Given the description of an element on the screen output the (x, y) to click on. 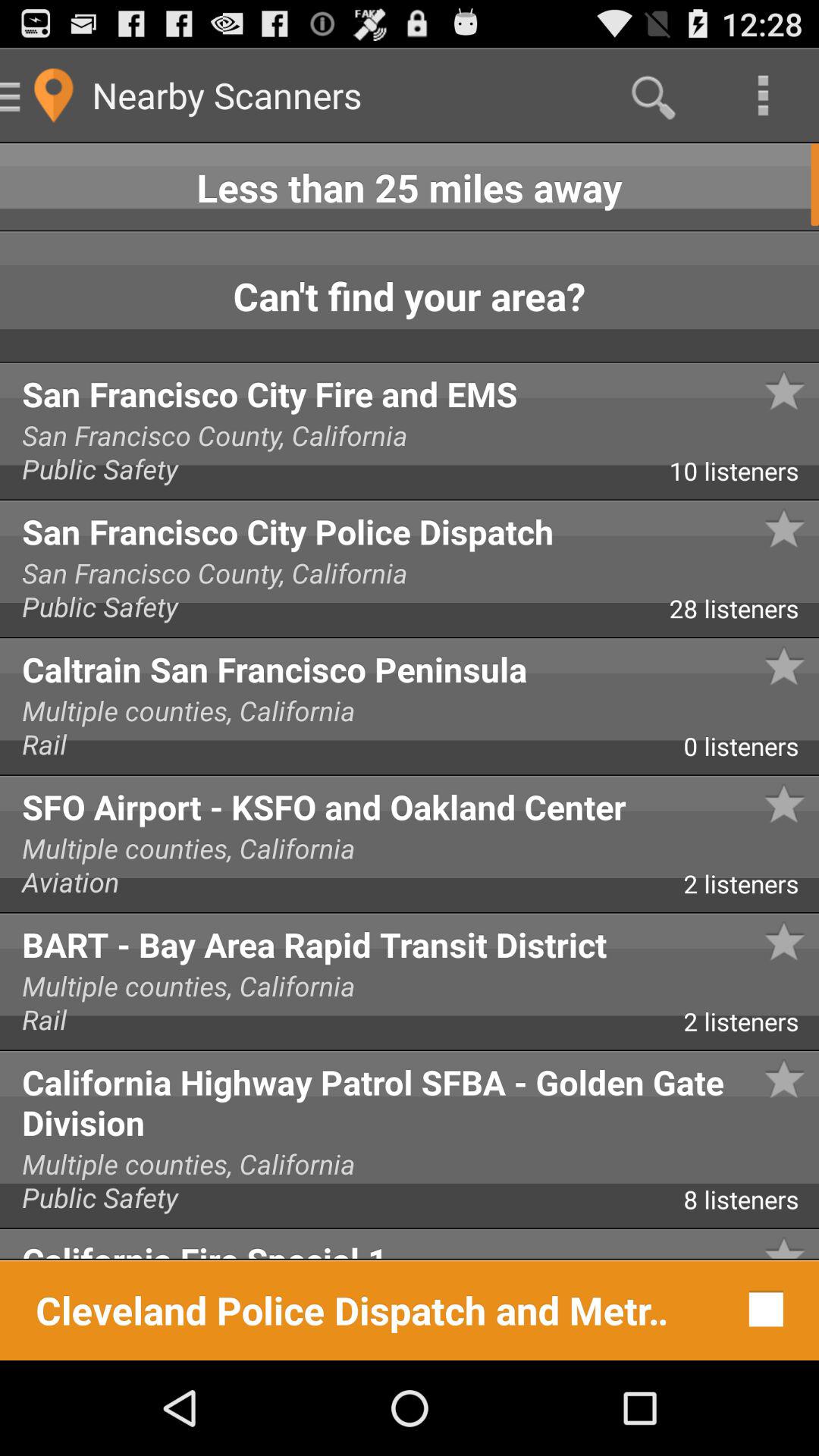
select icon to the right of the cleveland police dispatch button (762, 1309)
